Given the description of an element on the screen output the (x, y) to click on. 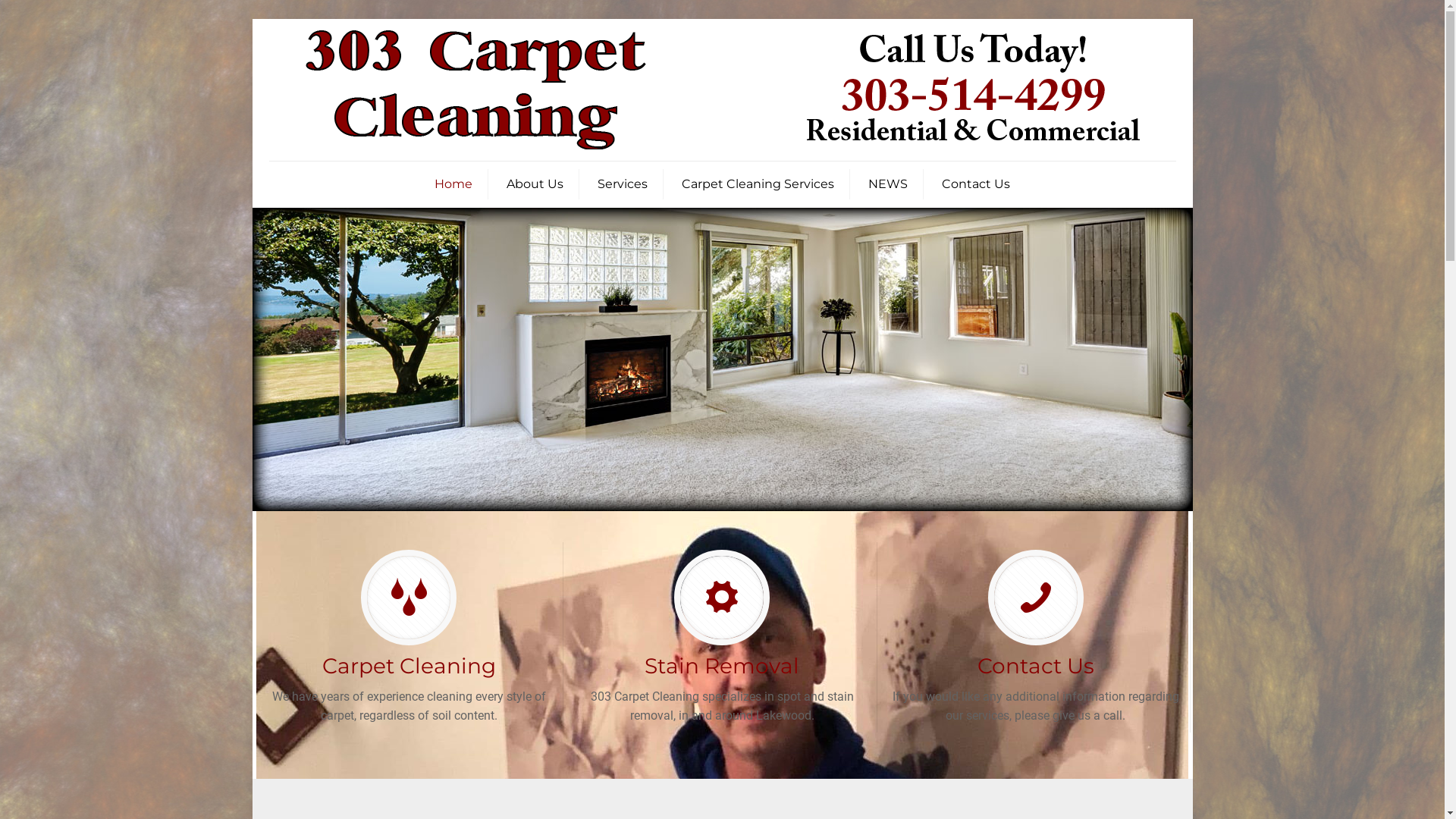
NEWS Element type: text (888, 184)
Contact Us Element type: text (975, 184)
About Us Element type: text (535, 184)
Home Element type: text (453, 184)
303 Carpet Cleaning Element type: hover (721, 89)
Services Element type: text (622, 184)
Carpet Cleaning Services Element type: text (758, 184)
